Given the description of an element on the screen output the (x, y) to click on. 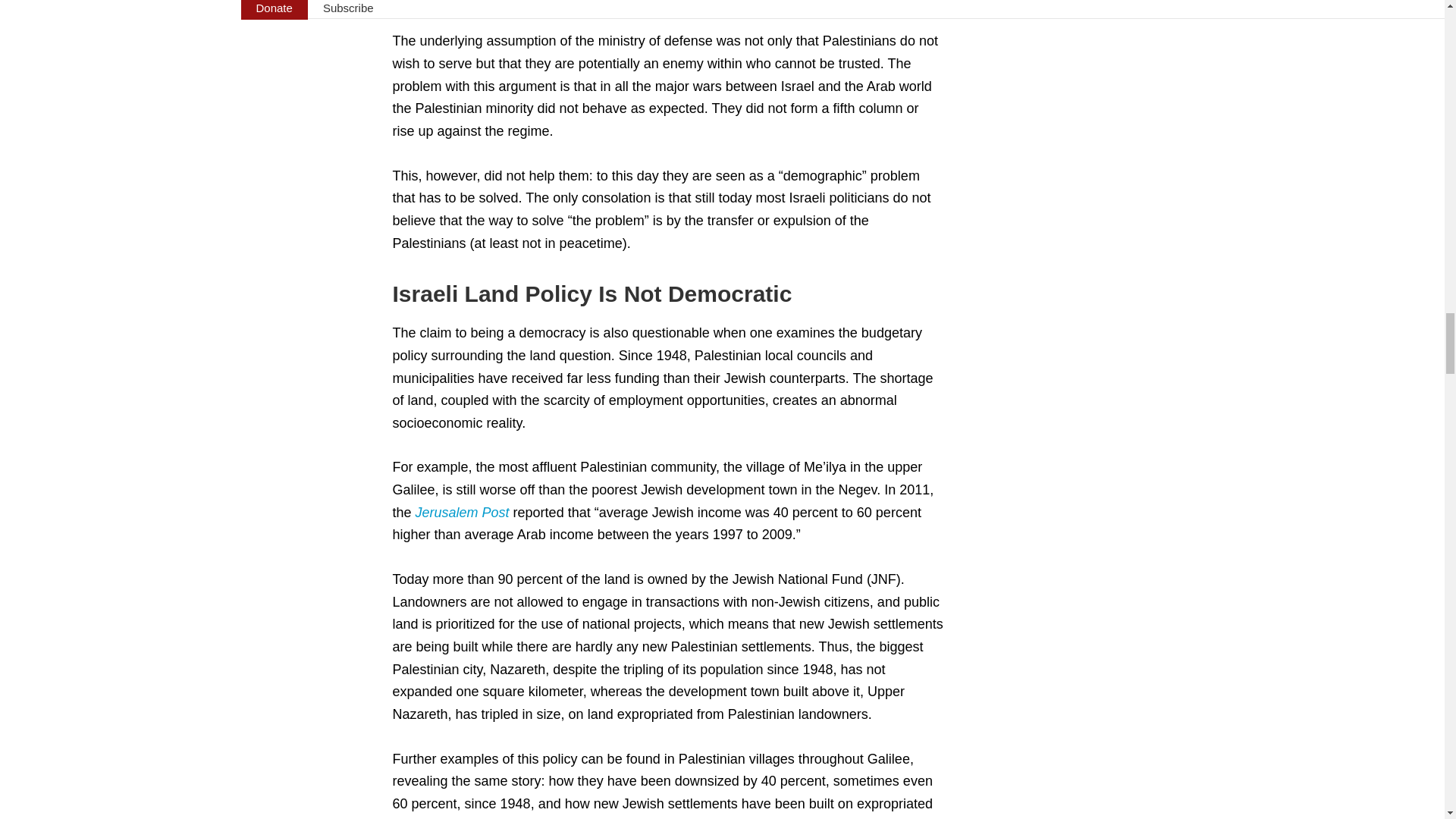
Jerusalem Post (463, 512)
